Given the description of an element on the screen output the (x, y) to click on. 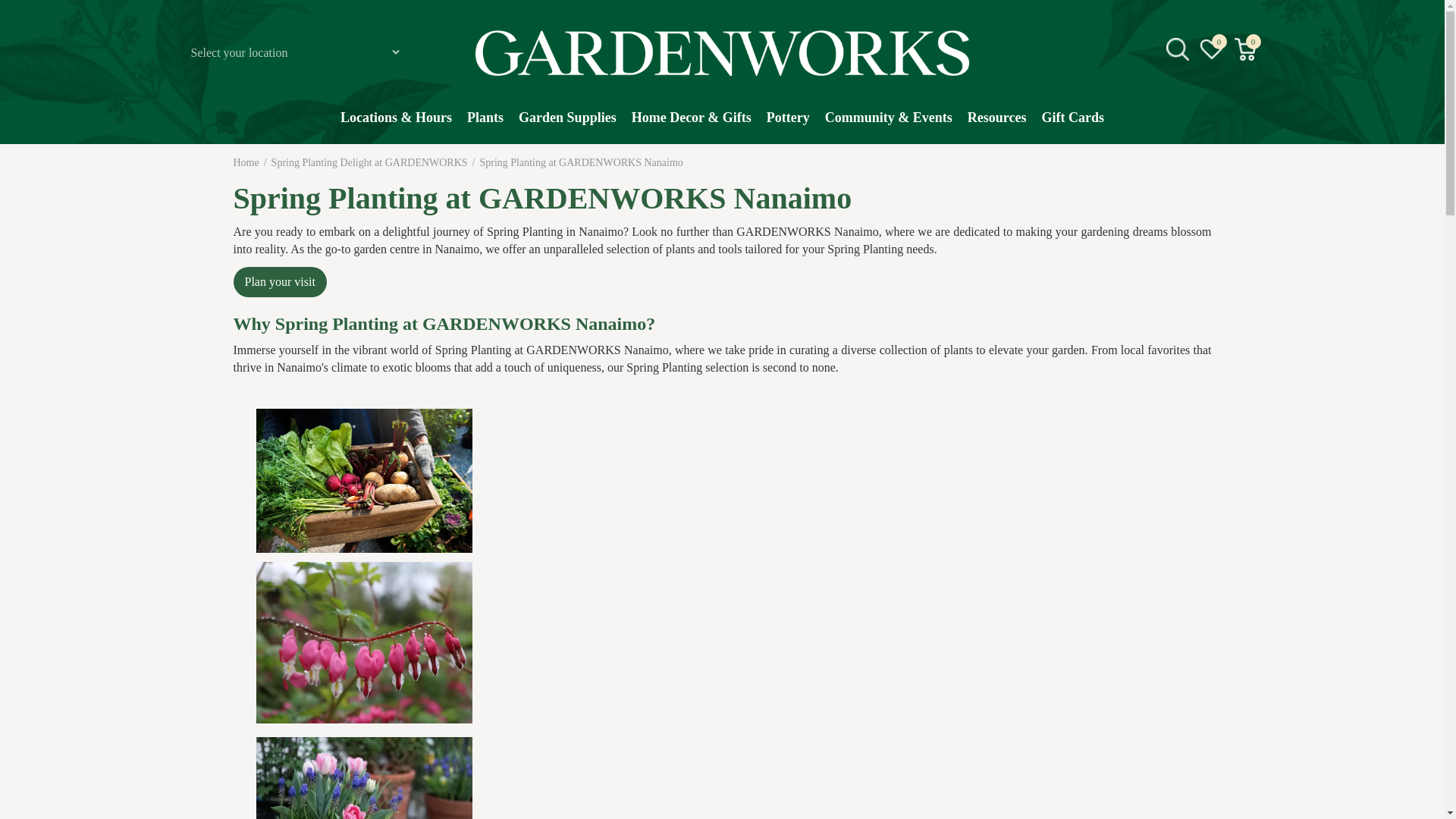
Go to the wishlist (1211, 48)
Spring Planting Delight at GARDENWORKS (368, 162)
Spring Planting at GARDENWORKS Nanaimo (580, 162)
GARDENWORKS garden centres (722, 53)
Plants (485, 125)
src (1177, 48)
No items in wishlist (1211, 48)
Home (245, 162)
Garden Supplies (566, 125)
Home (245, 162)
